Given the description of an element on the screen output the (x, y) to click on. 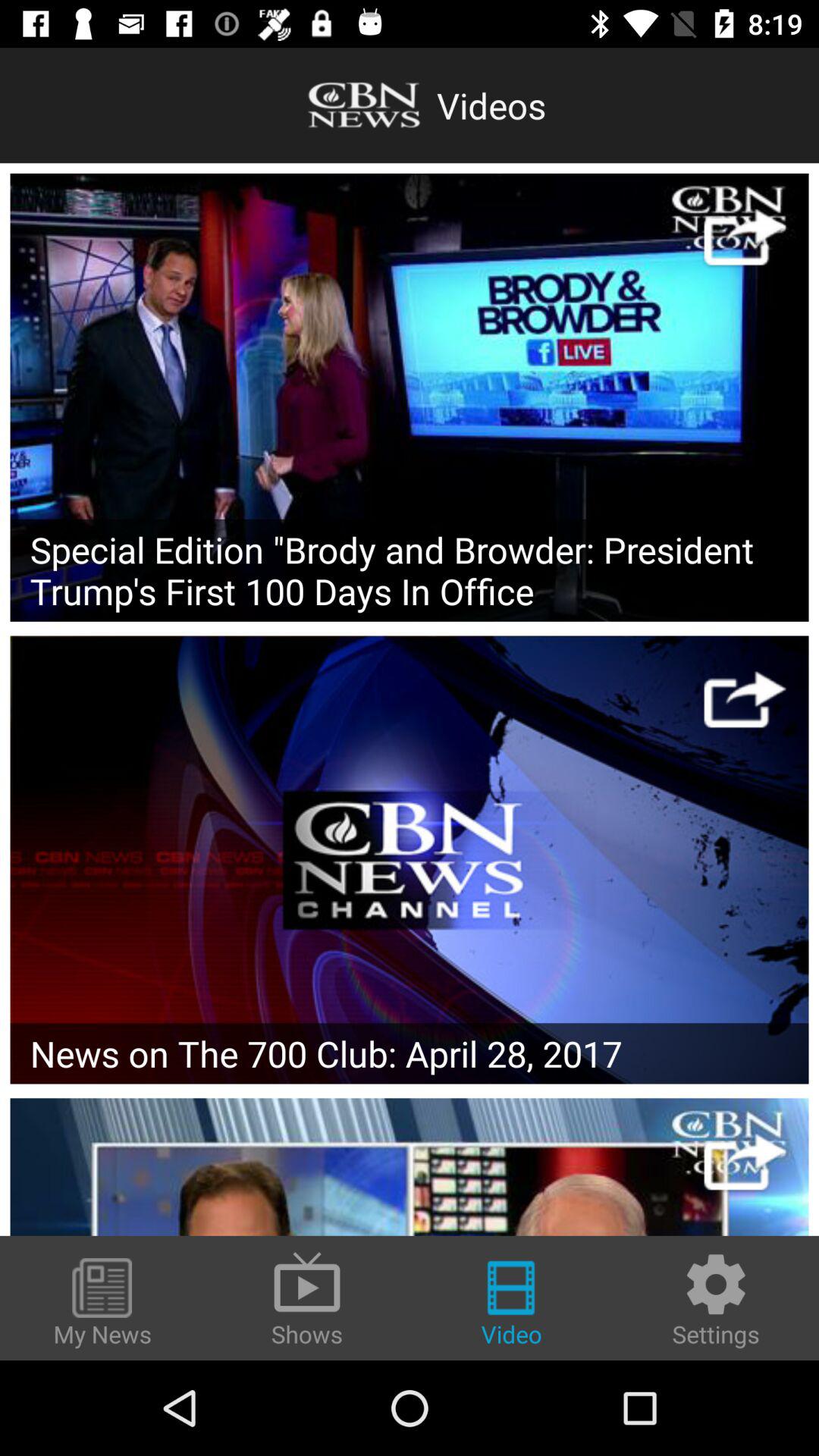
flip to the my news (102, 1304)
